Given the description of an element on the screen output the (x, y) to click on. 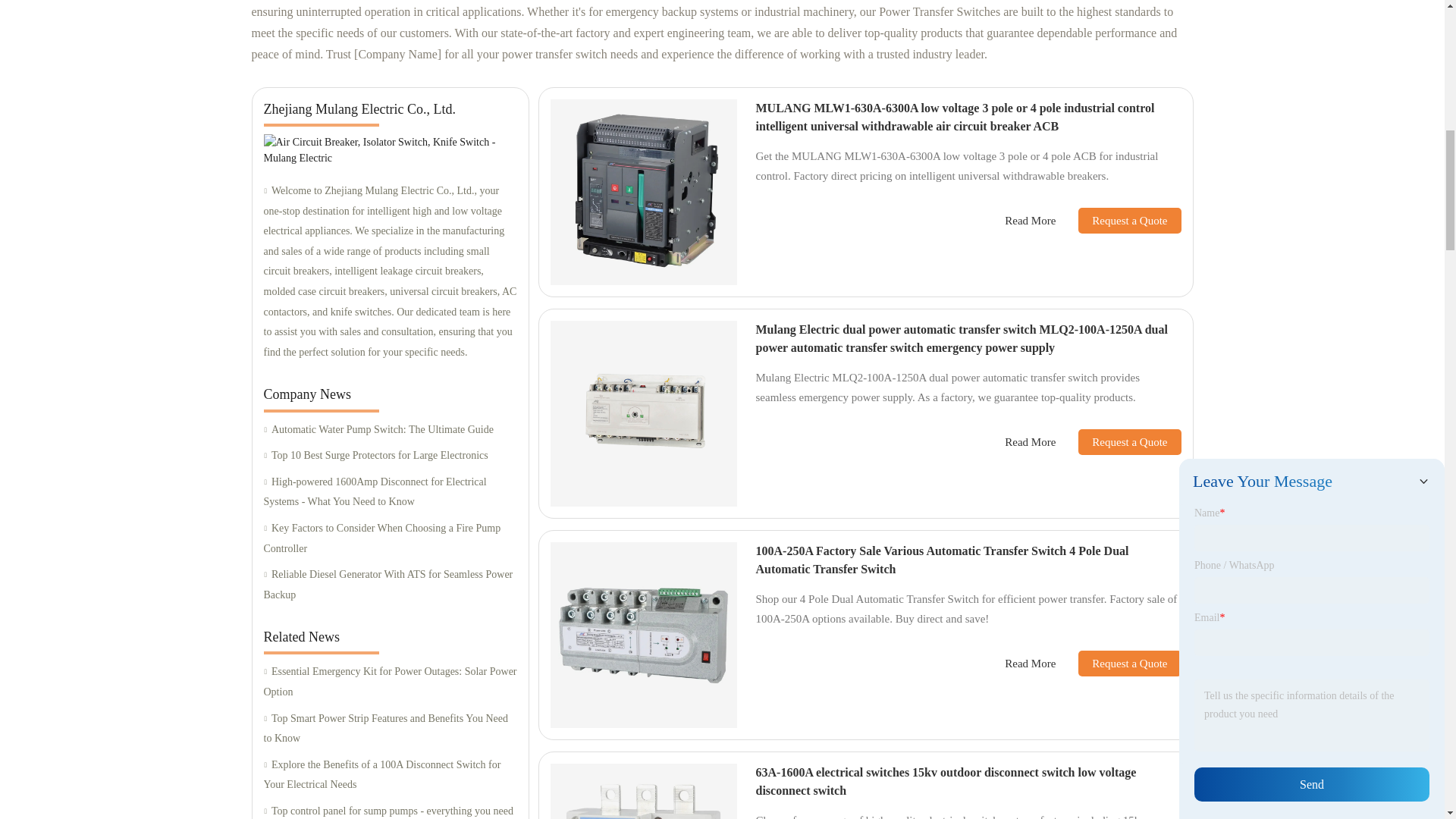
Request a Quote (1117, 220)
Key Factors to Consider When Choosing a Fire Pump Controller (389, 538)
Read More (1029, 221)
Top Smart Power Strip Features and Benefits You Need to Know (389, 729)
Reliable Diesel Generator With ATS for Seamless Power Backup (389, 585)
Top 10 Best Surge Protectors for Large Electronics (389, 455)
Automatic Water Pump Switch: The Ultimate Guide (389, 430)
